Given the description of an element on the screen output the (x, y) to click on. 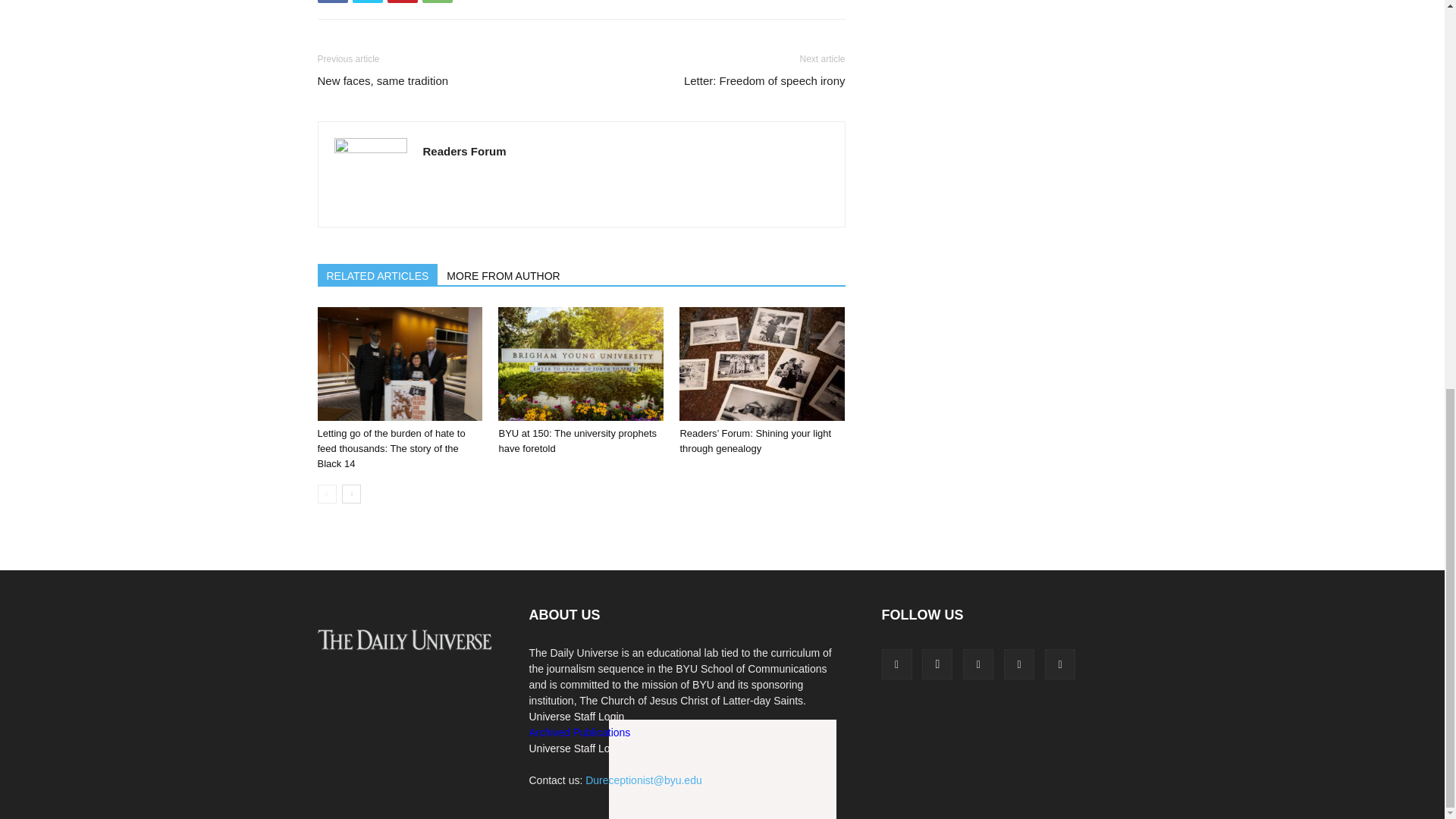
WhatsApp (436, 1)
Pinterest (401, 1)
Facebook (332, 1)
Twitter (366, 1)
